Given the description of an element on the screen output the (x, y) to click on. 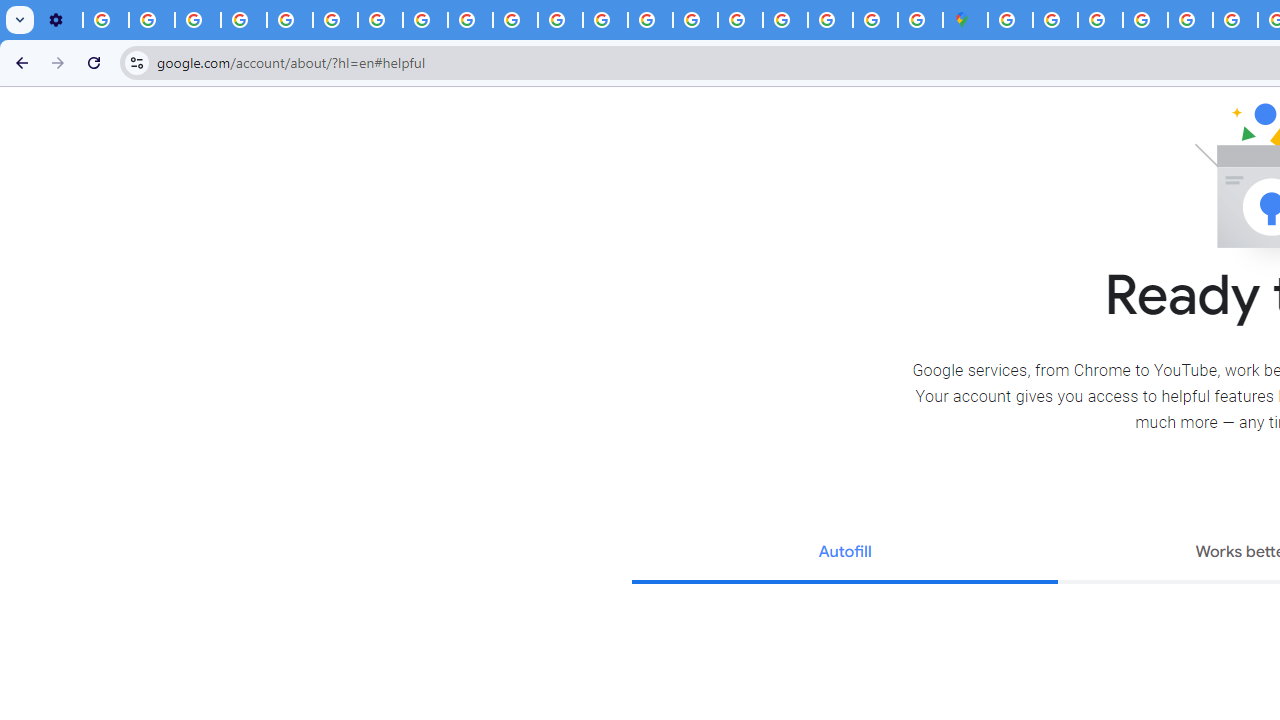
Privacy Help Center - Policies Help (1235, 20)
Sign in - Google Accounts (784, 20)
Privacy Checkup (470, 20)
